Given the description of an element on the screen output the (x, y) to click on. 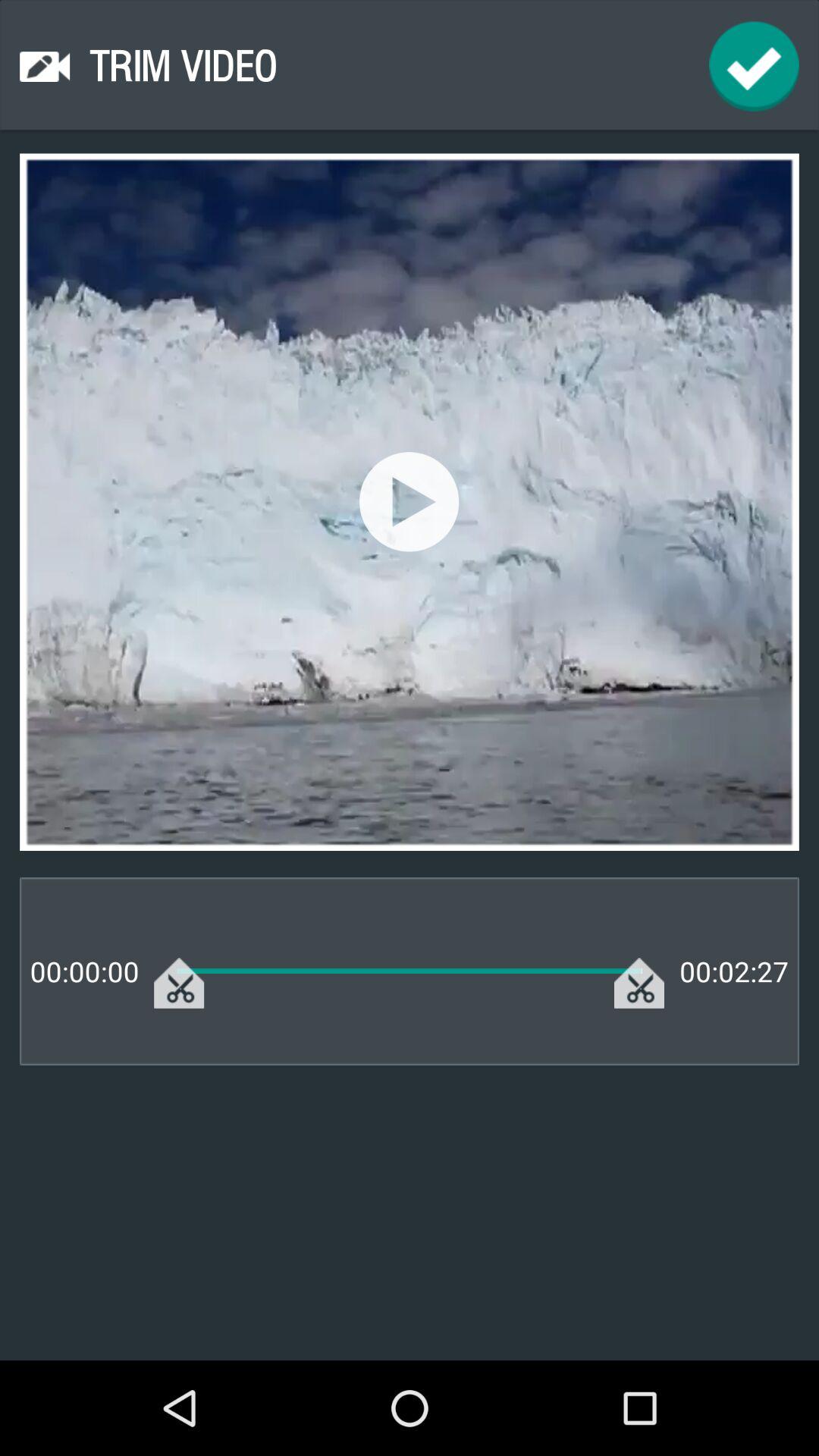
select the item next to trim video item (754, 66)
